Given the description of an element on the screen output the (x, y) to click on. 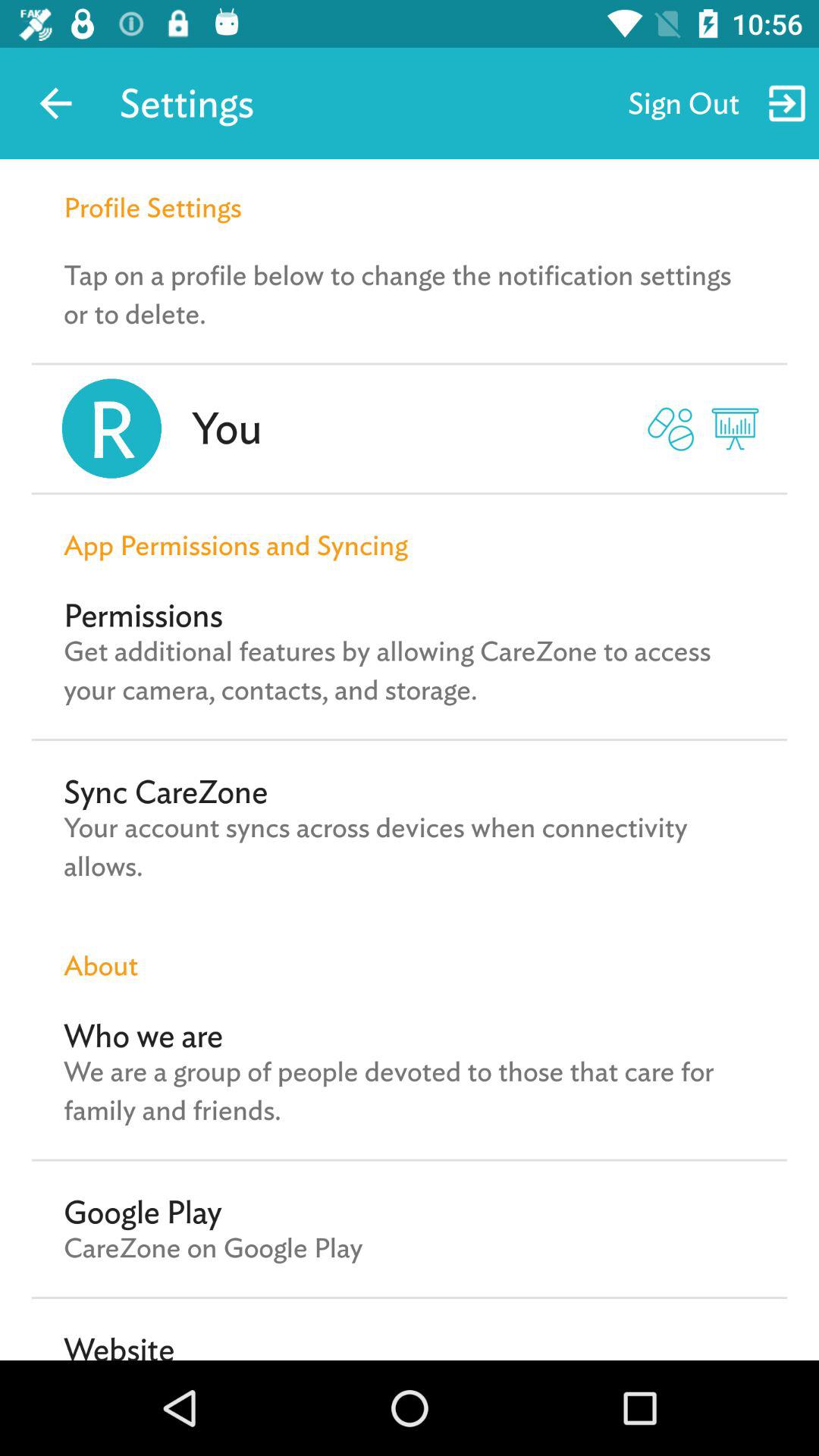
launch the icon below the tap on a icon (226, 428)
